Given the description of an element on the screen output the (x, y) to click on. 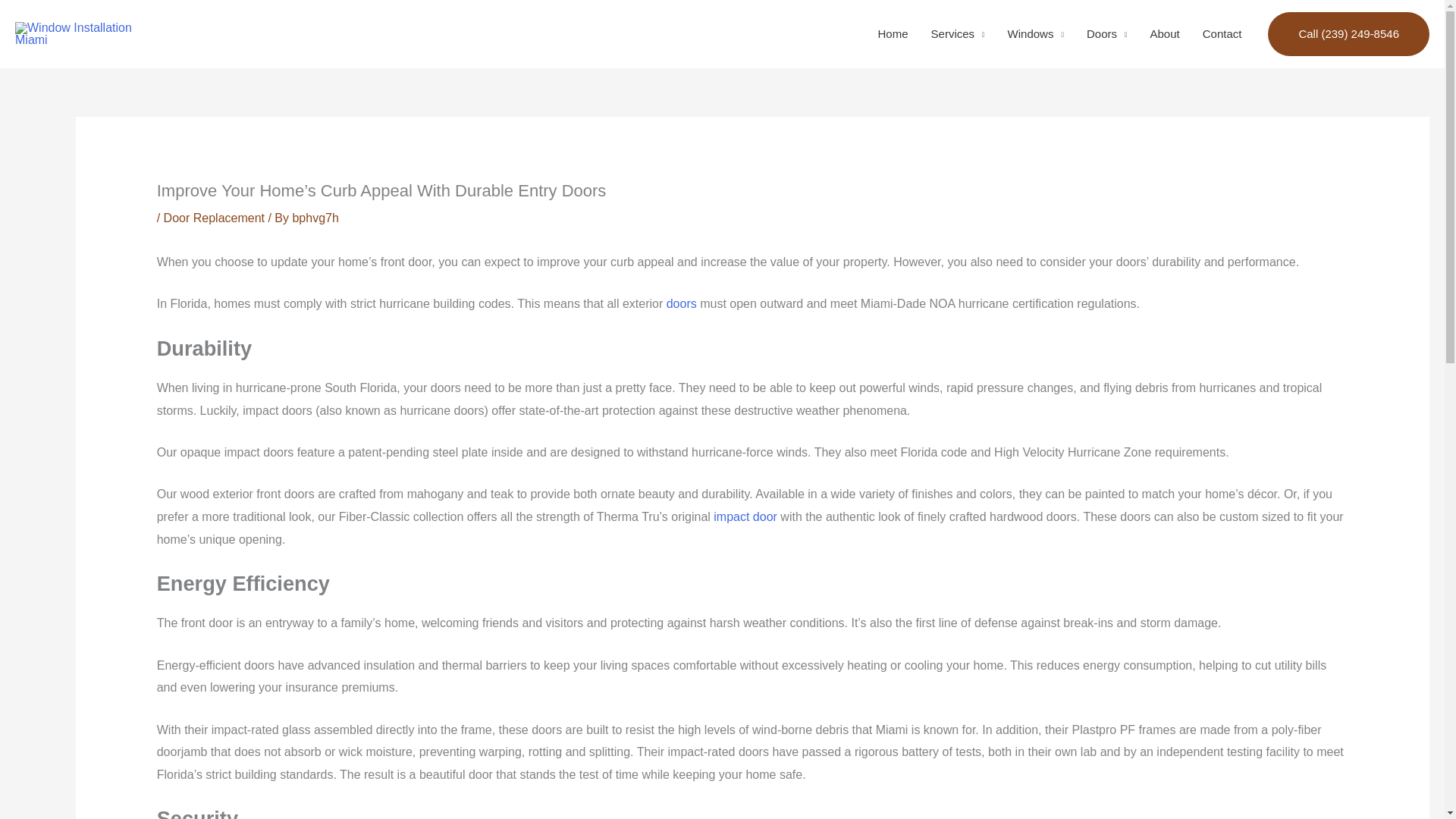
View all posts by bphvg7h (314, 217)
Windows (1035, 33)
Services (957, 33)
About (1164, 33)
Home (893, 33)
Doors (1106, 33)
Contact (1222, 33)
